Given the description of an element on the screen output the (x, y) to click on. 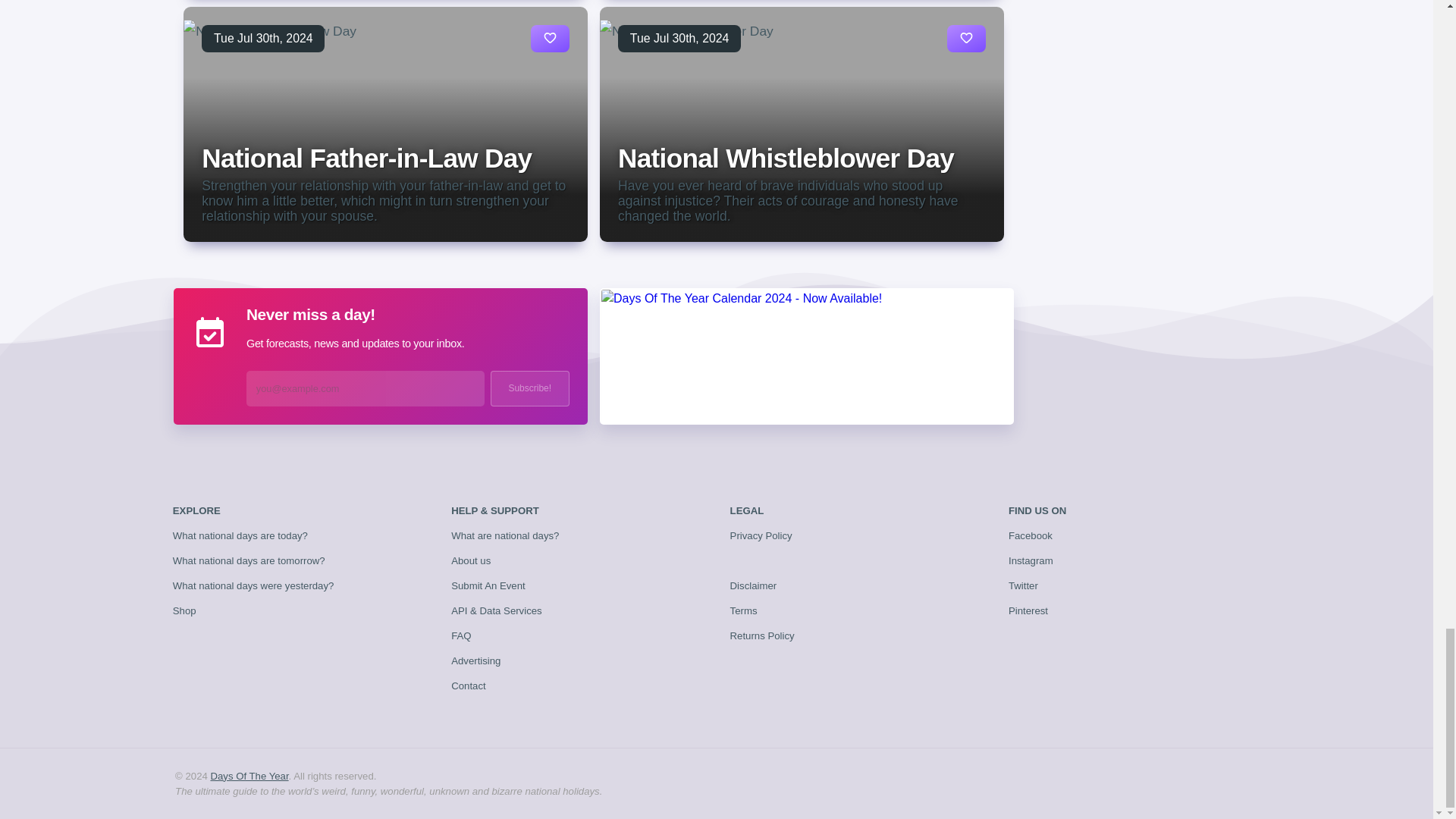
Subscribe! (529, 388)
Instagram (1030, 560)
Facebook (1030, 535)
National Father-in-Law Day (366, 157)
Twitter (1023, 585)
National Whistleblower Day (785, 157)
Pinterest (1028, 610)
Subscribe! (529, 388)
